Given the description of an element on the screen output the (x, y) to click on. 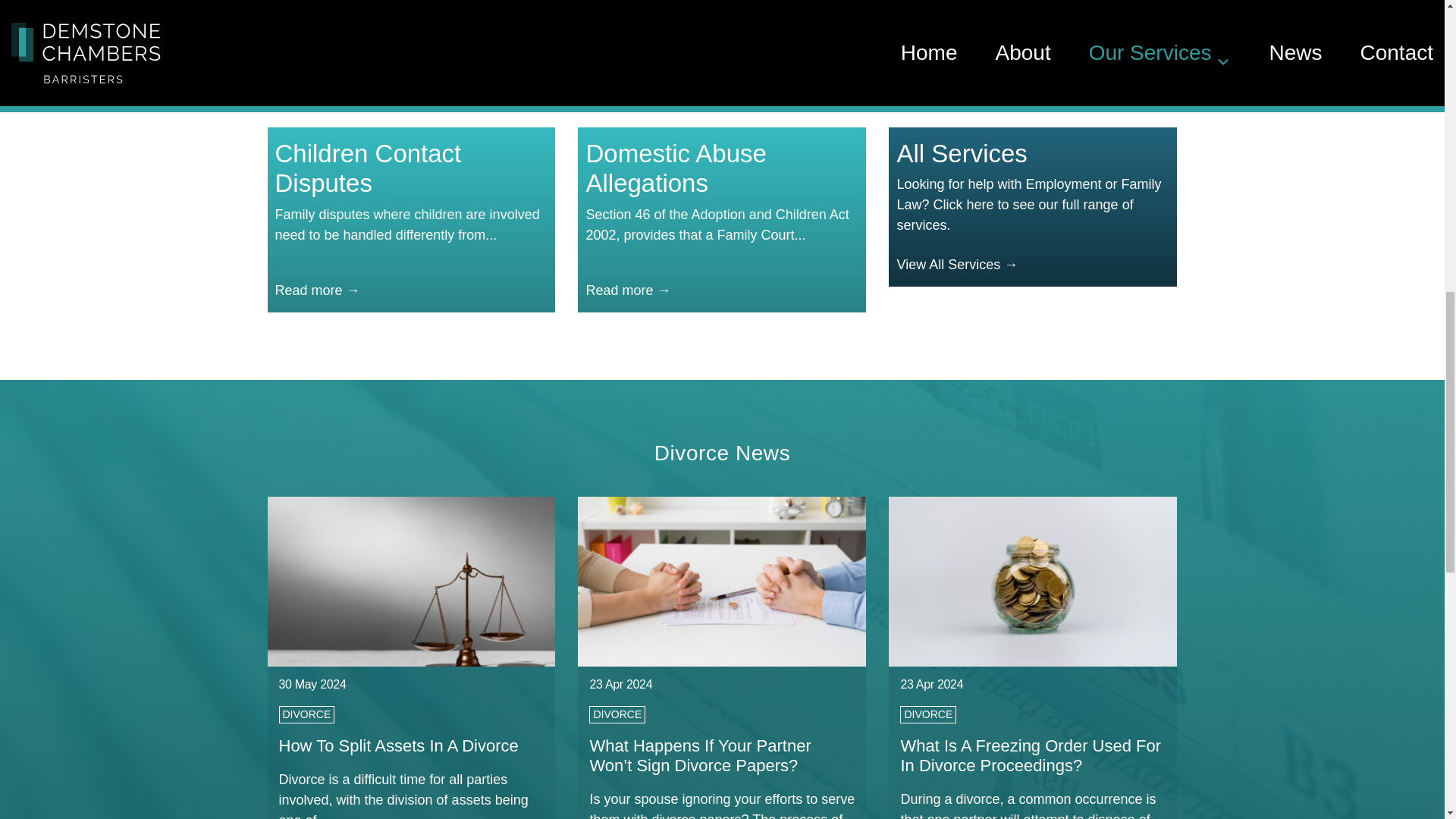
DIVORCE (927, 714)
family lawyers in Milton Keynes (715, 5)
How To Split Assets In A Divorce (398, 745)
DIVORCE (617, 714)
What Is A Freezing Order Used For In Divorce Proceedings? (1029, 755)
DIVORCE (306, 714)
